Given the description of an element on the screen output the (x, y) to click on. 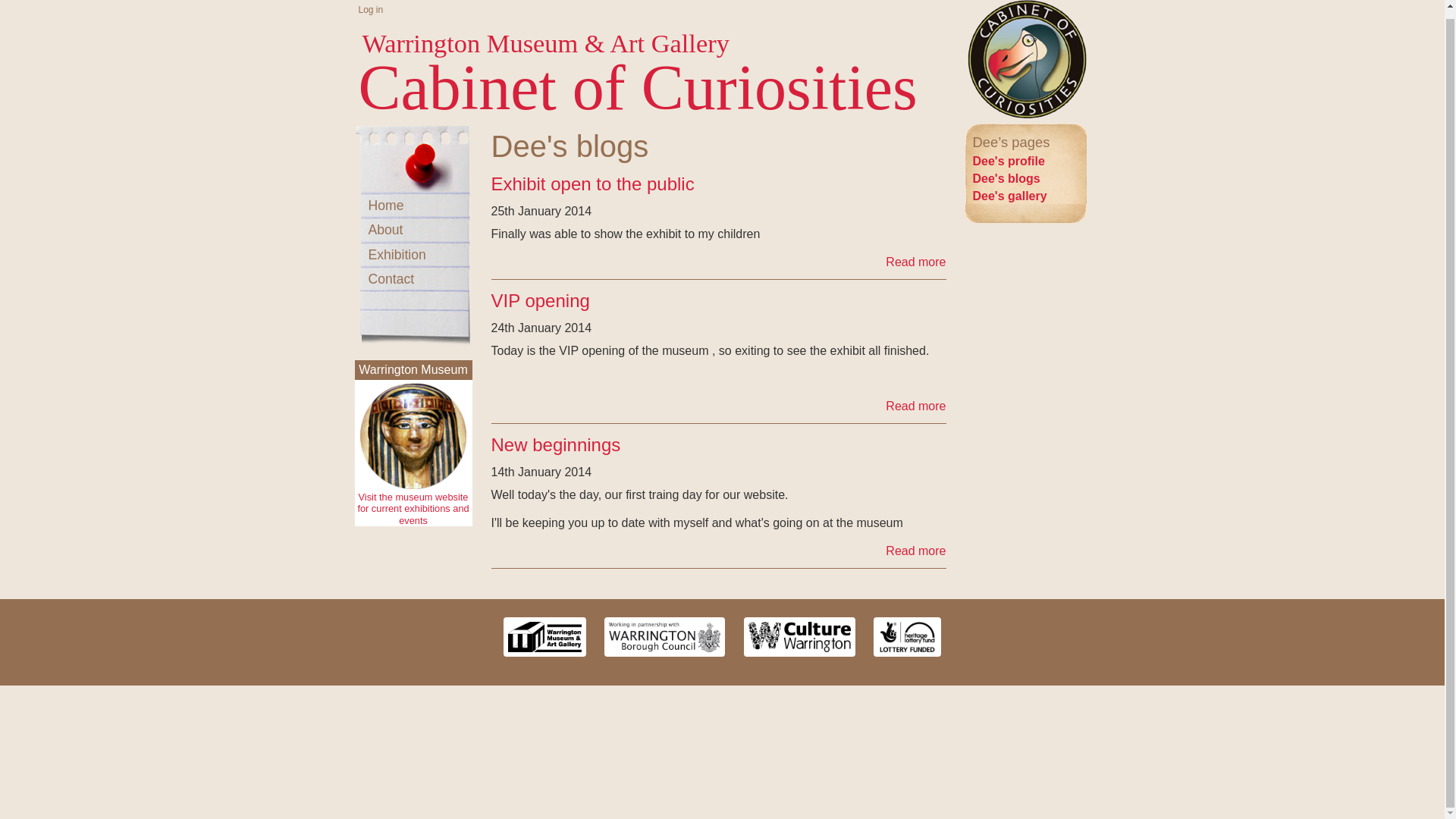
About (413, 228)
New beginnings  (914, 550)
Visit the museum website for current exhibitions and events (412, 435)
Log in (374, 9)
Dee's profile (1007, 160)
Visit the museum website for current exhibitions and events (412, 508)
VIP opening (914, 405)
New beginnings (556, 444)
Exhibit open to the public (593, 183)
